Given the description of an element on the screen output the (x, y) to click on. 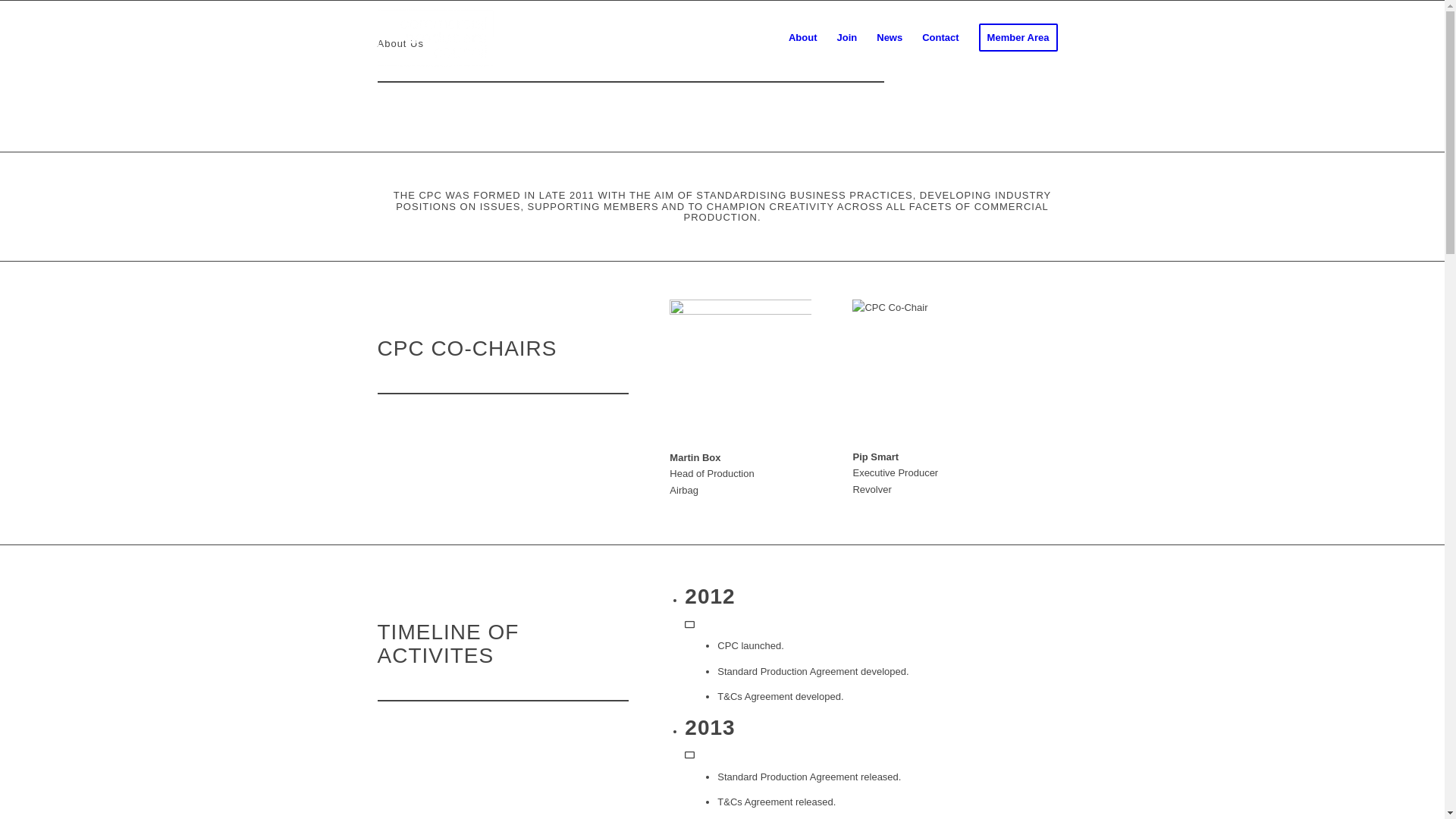
About Element type: text (802, 37)
Pip Smart CPC Co-Chair Element type: hover (923, 369)
Member Area Element type: text (1018, 37)
News Element type: text (889, 37)
Join Element type: text (847, 37)
Contact Element type: text (940, 37)
Martin-Box Element type: hover (740, 370)
